Given the description of an element on the screen output the (x, y) to click on. 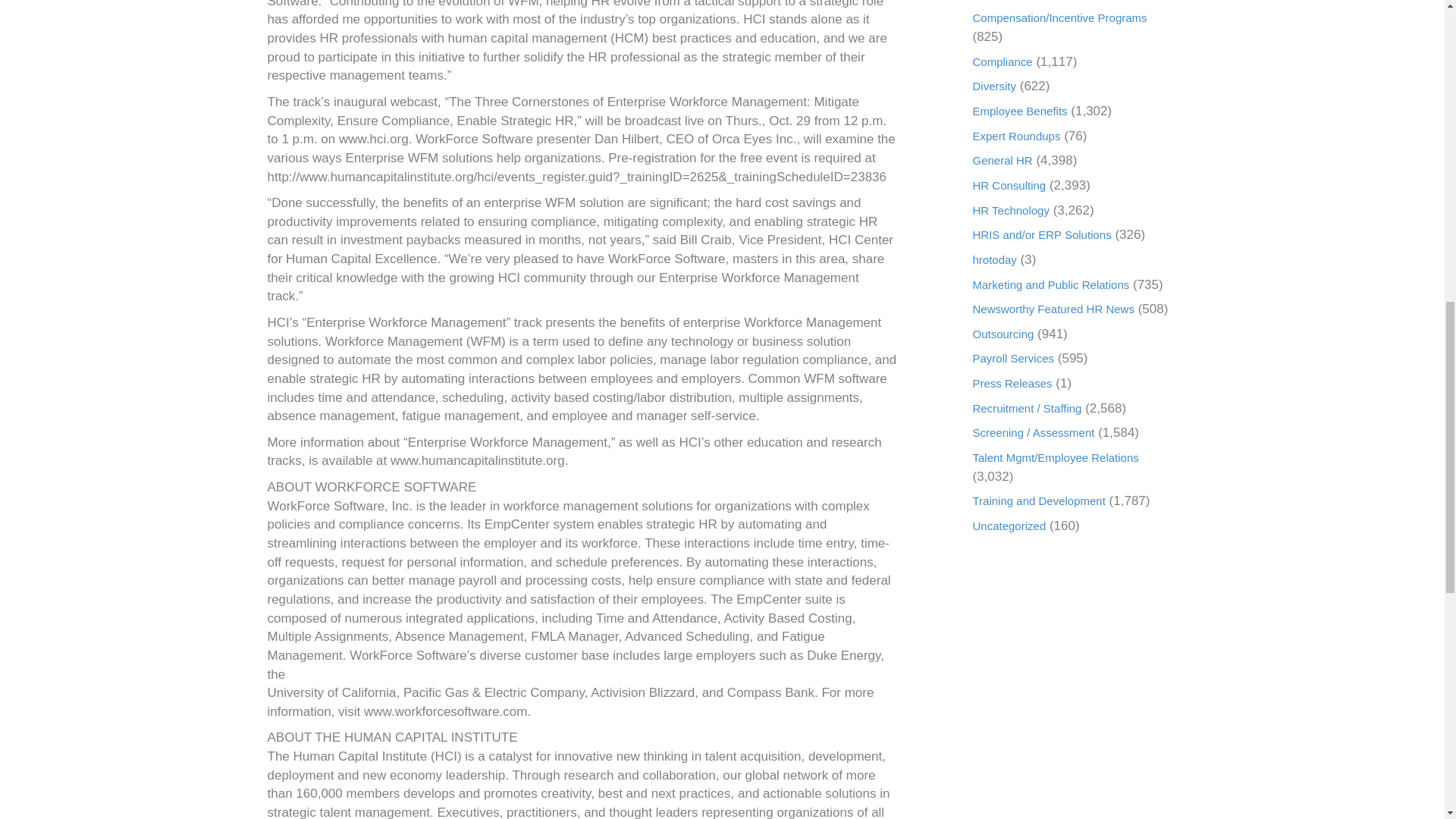
Expert Roundups (1015, 135)
HR Technology (1010, 210)
Payroll Services (1013, 358)
Uncategorized (1008, 525)
Marketing and Public Relations (1050, 283)
Outsourcing (1002, 333)
Compliance (1002, 61)
Press Releases (1011, 382)
Newsworthy Featured HR News (1053, 308)
Diversity (994, 85)
